Given the description of an element on the screen output the (x, y) to click on. 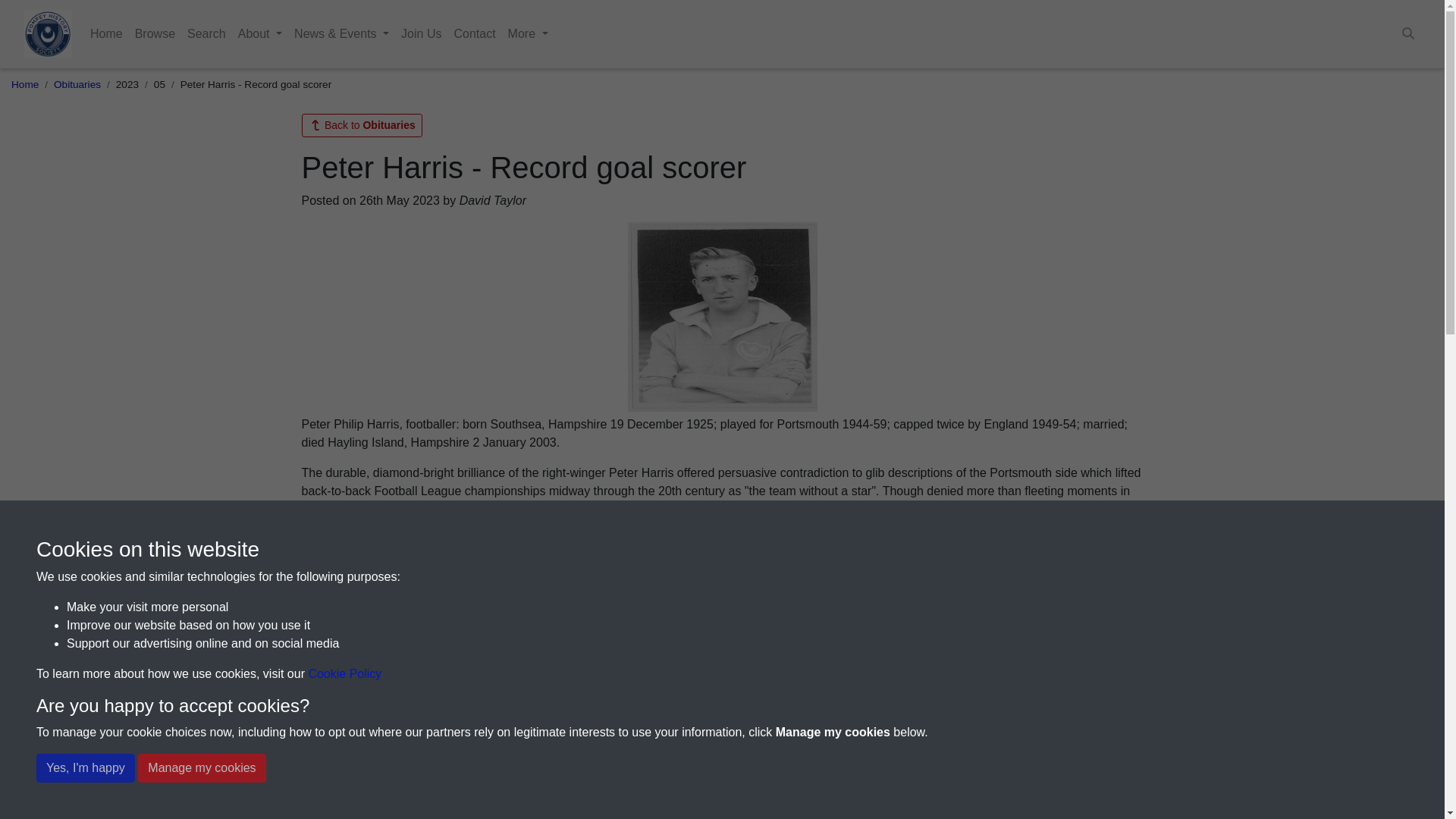
Contact (473, 33)
About (259, 33)
Manage my cookies (201, 767)
Browse (154, 33)
Home (106, 33)
More (528, 33)
Obituaries (76, 84)
Cookie Policy (344, 673)
Search (205, 33)
Peter Harris (721, 316)
